Given the description of an element on the screen output the (x, y) to click on. 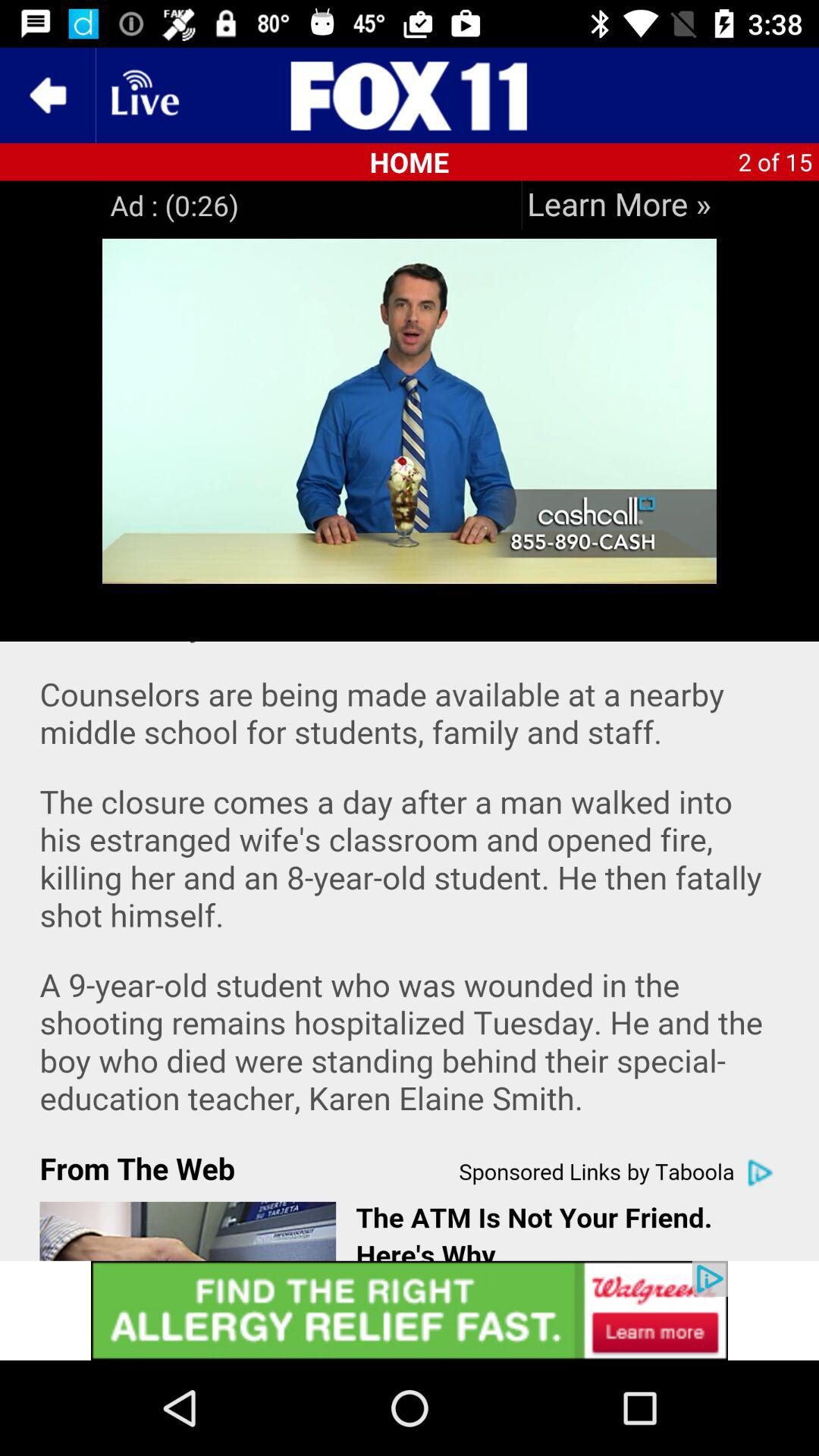
go to home (409, 95)
